Given the description of an element on the screen output the (x, y) to click on. 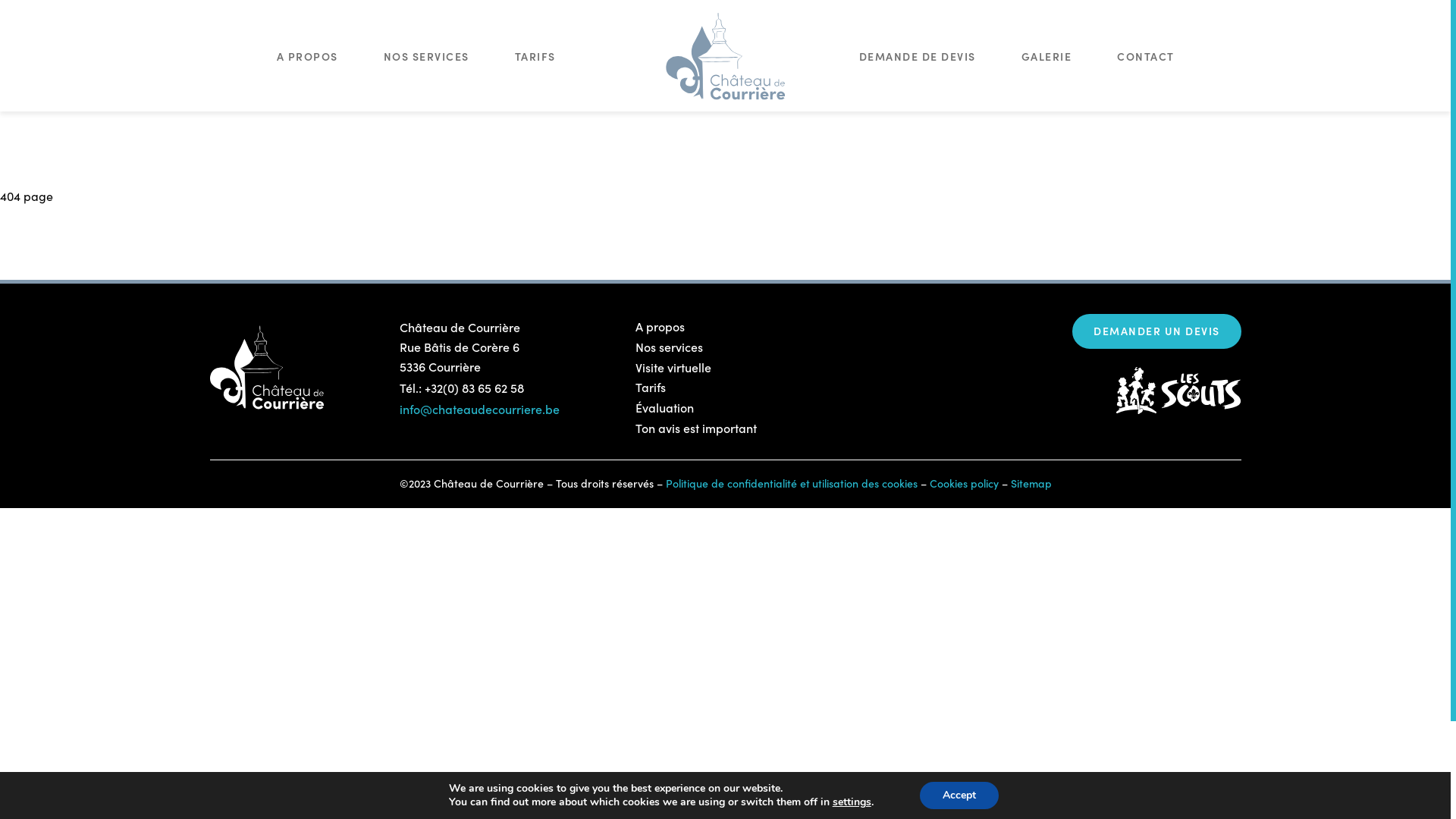
Tarifs Element type: text (650, 387)
DEMANDER UN DEVIS Element type: text (1156, 330)
CONTACT Element type: text (1145, 59)
info@chateaudecourriere.be Element type: text (479, 409)
Accept Element type: text (958, 795)
LES SCOUTS Element type: hover (1177, 390)
A PROPOS Element type: text (306, 59)
GALERIE Element type: text (1045, 59)
DEMANDE DE DEVIS Element type: text (916, 59)
Nos services Element type: text (668, 346)
Ton avis est important Element type: text (695, 428)
+32(0) 83 65 62 58 Element type: text (474, 387)
settings Element type: text (851, 802)
TARIFS Element type: text (534, 59)
Visite virtuelle Element type: text (673, 367)
NOS SERVICES Element type: text (426, 59)
A propos Element type: text (659, 326)
Cookies policy Element type: text (963, 483)
Sitemap Element type: text (1030, 483)
